Given the description of an element on the screen output the (x, y) to click on. 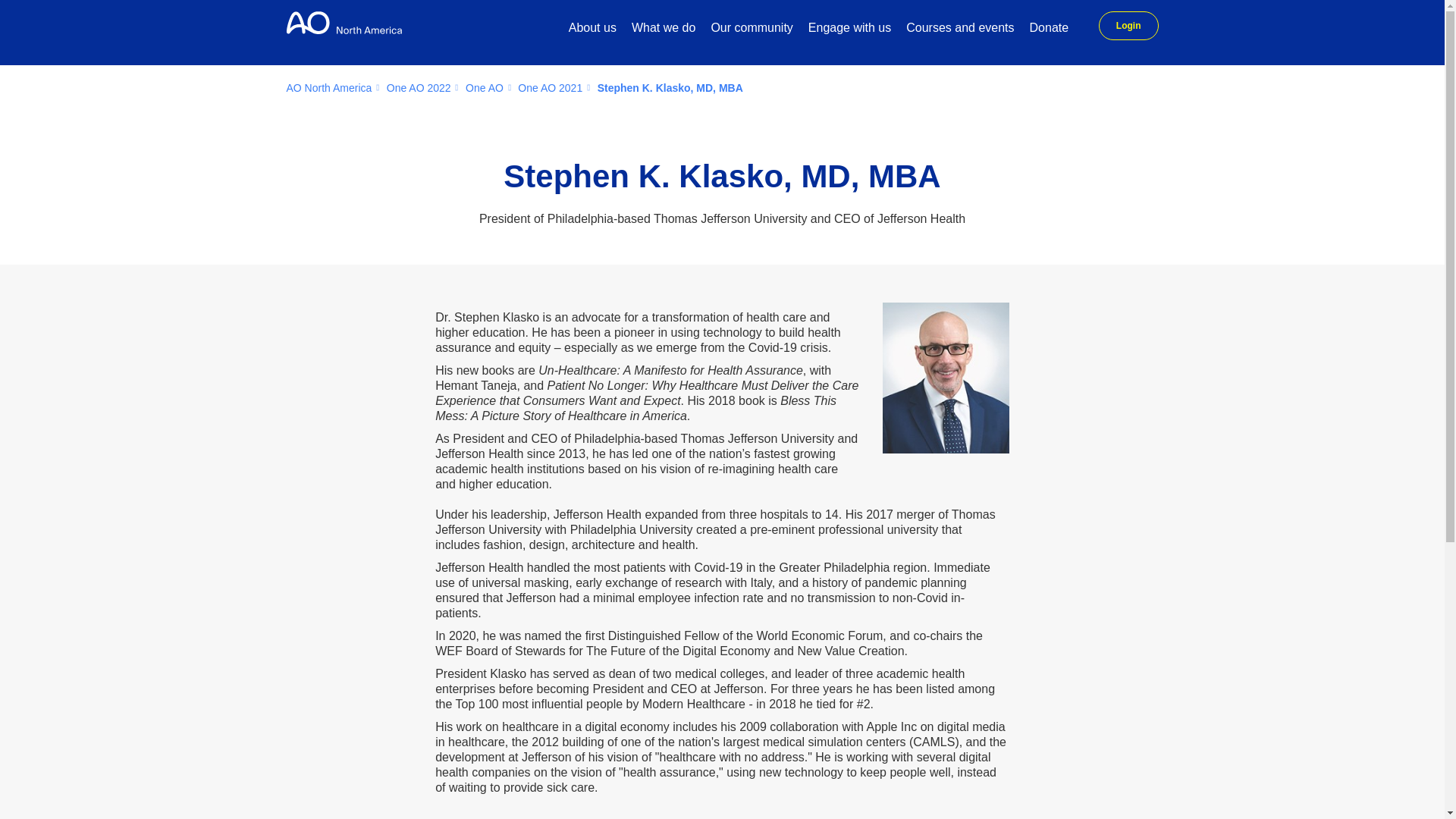
Our community (751, 28)
About us (592, 28)
About us (592, 28)
What we do (663, 28)
What we do (663, 28)
